Given the description of an element on the screen output the (x, y) to click on. 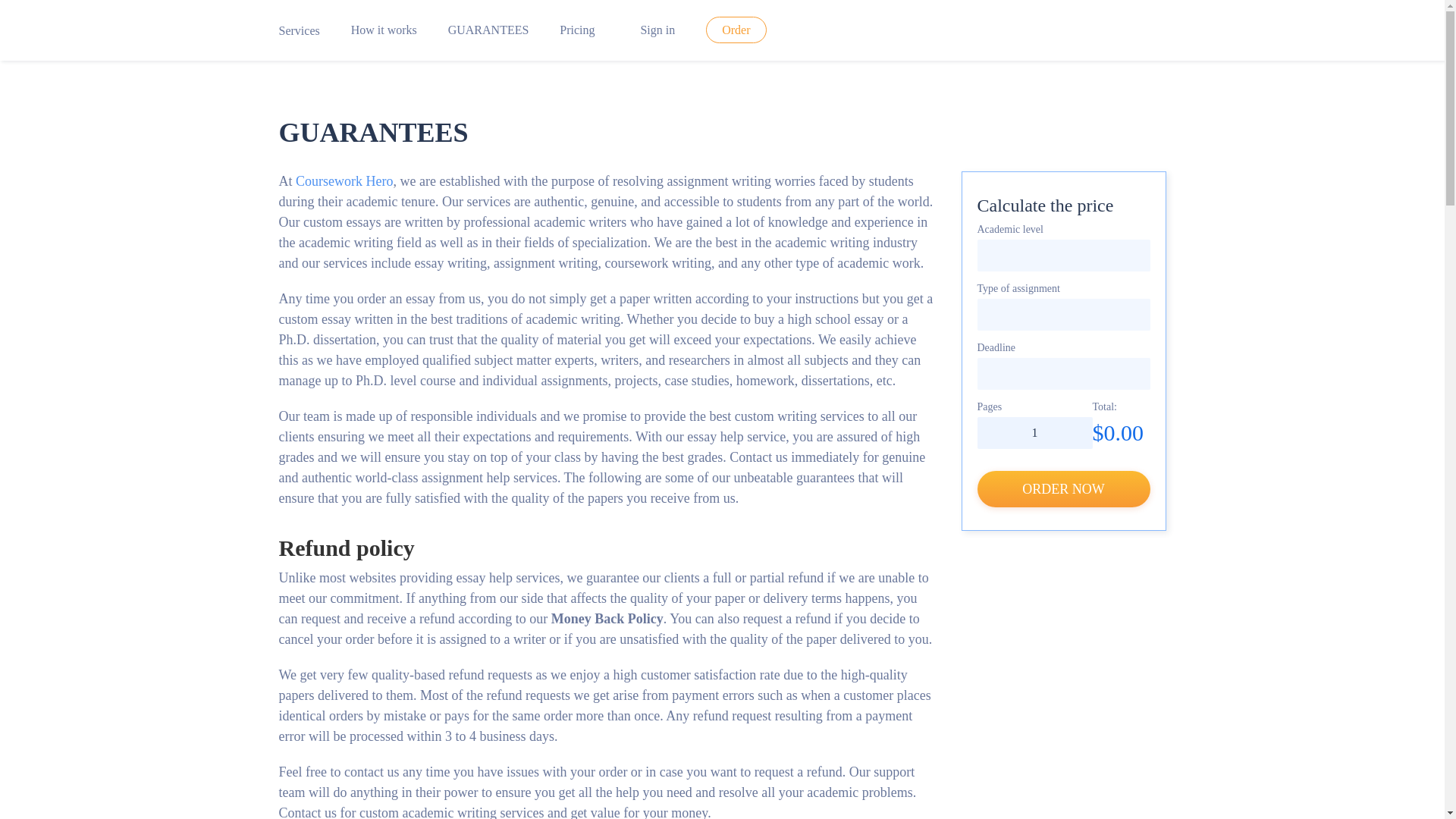
Pricing (576, 29)
ORDER NOW (1063, 488)
Order (735, 29)
1 (1034, 432)
Coursework Hero (344, 181)
Sign in (650, 29)
How it works (383, 29)
GUARANTEES (488, 29)
